Given the description of an element on the screen output the (x, y) to click on. 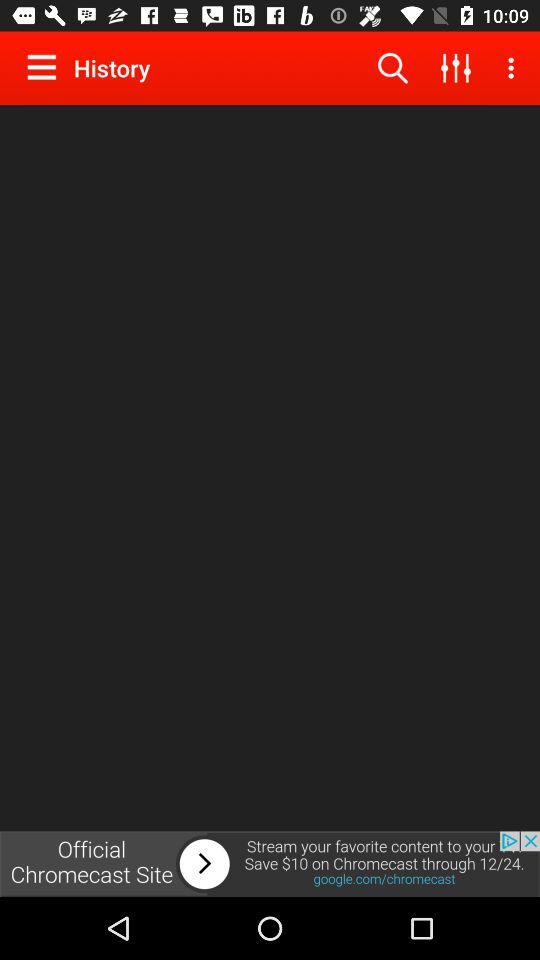
menu button (46, 67)
